Given the description of an element on the screen output the (x, y) to click on. 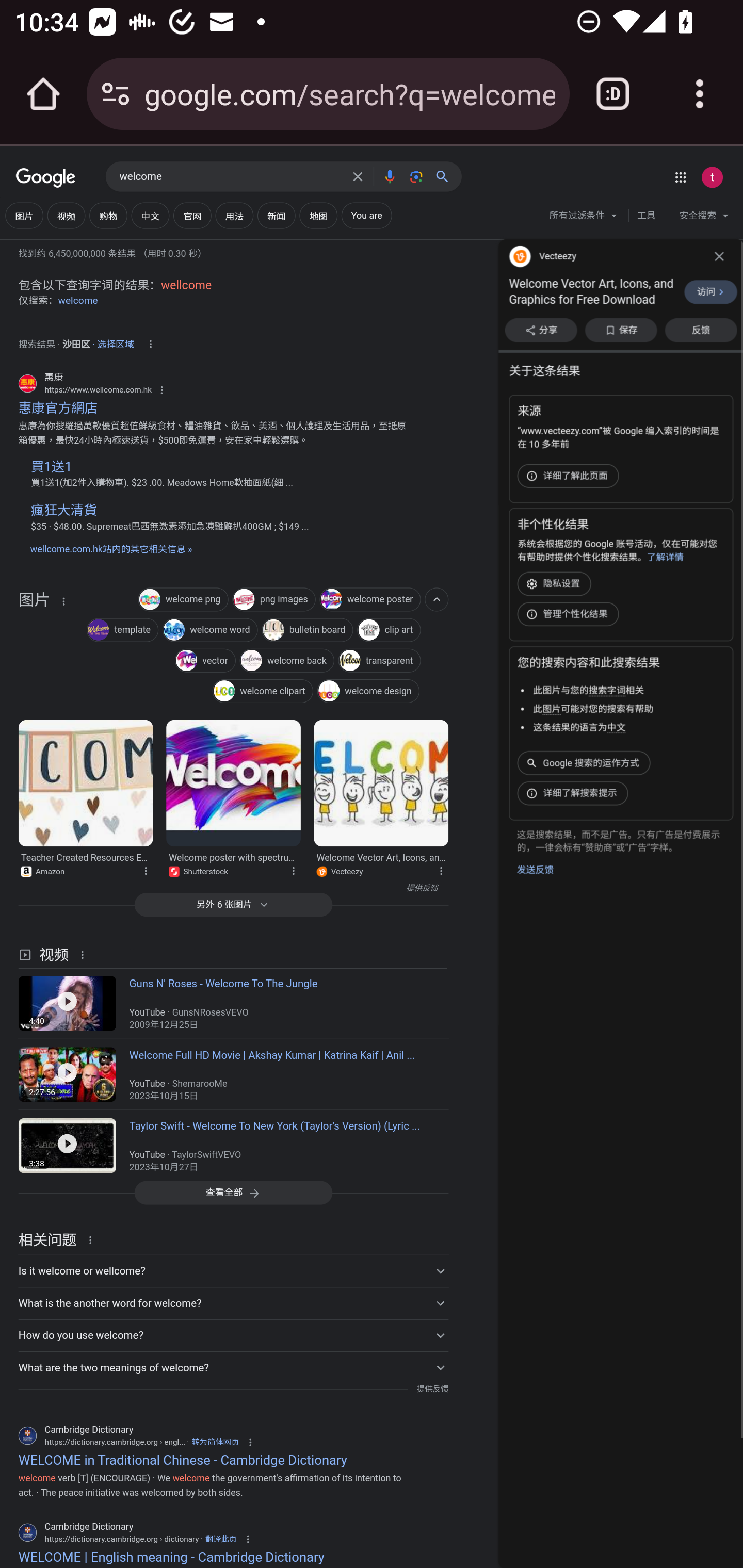
Open the home page (43, 93)
Connection is secure (115, 93)
Switch or close tabs (612, 93)
Customize and control Google Chrome (699, 93)
清除 (357, 176)
按语音搜索 (389, 176)
按图搜索 (415, 176)
搜索 (446, 176)
Google 应用 (680, 176)
Google 账号： test appium (testappium002@gmail.com) (712, 176)
Google (45, 178)
welcome (229, 177)
图片 (24, 215)
视频 (65, 215)
购物 (107, 215)
添加“中文” 中文 (149, 215)
添加“官网” 官网 (191, 215)
添加“用法” 用法 (234, 215)
新闻 (276, 215)
地图 (318, 215)
添加“You are” You are (366, 215)
所有过滤条件 (583, 217)
工具 (646, 215)
安全搜索 (703, 217)
wellcome (185, 285)
welcome (77, 299)
选择区域 (115, 341)
位置信息使用方式 (149, 343)
買1送1 (50, 466)
瘋狂大清貨 (62, 510)
wellcome.com.hk站内的其它相关信息 » (110, 549)
图片 (33, 649)
welcome png (182, 600)
png images (273, 600)
welcome poster (369, 600)
按功能过滤 (436, 599)
关于这条结果的详细信息 (62, 601)
template (122, 631)
welcome word (209, 631)
bulletin board (306, 631)
clip art (388, 631)
vector (204, 661)
welcome back (286, 661)
transparent (378, 661)
welcome clipart (262, 692)
welcome design (367, 692)
关于这条结果的详细信息 (145, 869)
关于这条结果的详细信息 (292, 869)
关于这条结果的详细信息 (440, 869)
另外 6 张图片 (232, 904)
关于这条结果的详细信息 (85, 954)
查看全部 (233, 1192)
关于这条结果的详细信息 (93, 1239)
Is it welcome or wellcome? (232, 1270)
What is the another word for welcome? (232, 1302)
How do you use welcome? (232, 1334)
What are the two meanings of welcome? (232, 1367)
提供反馈 (432, 1387)
转为简体网页 (214, 1442)
翻译此页 (220, 1539)
